Given the description of an element on the screen output the (x, y) to click on. 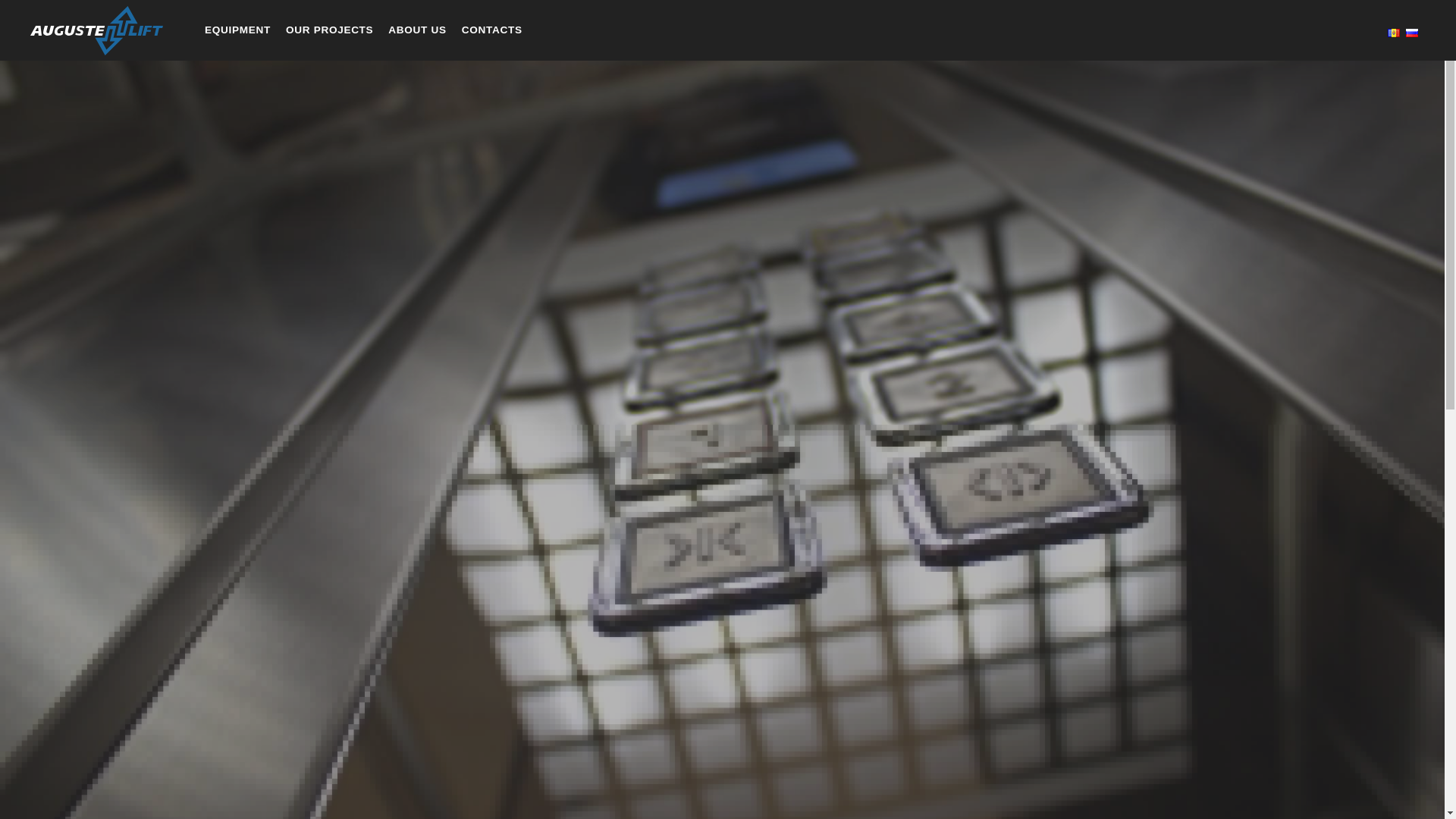
ABOUT US (416, 30)
OUR PROJECTS (328, 30)
CONTACTS (491, 30)
EQUIPMENT (237, 30)
